Given the description of an element on the screen output the (x, y) to click on. 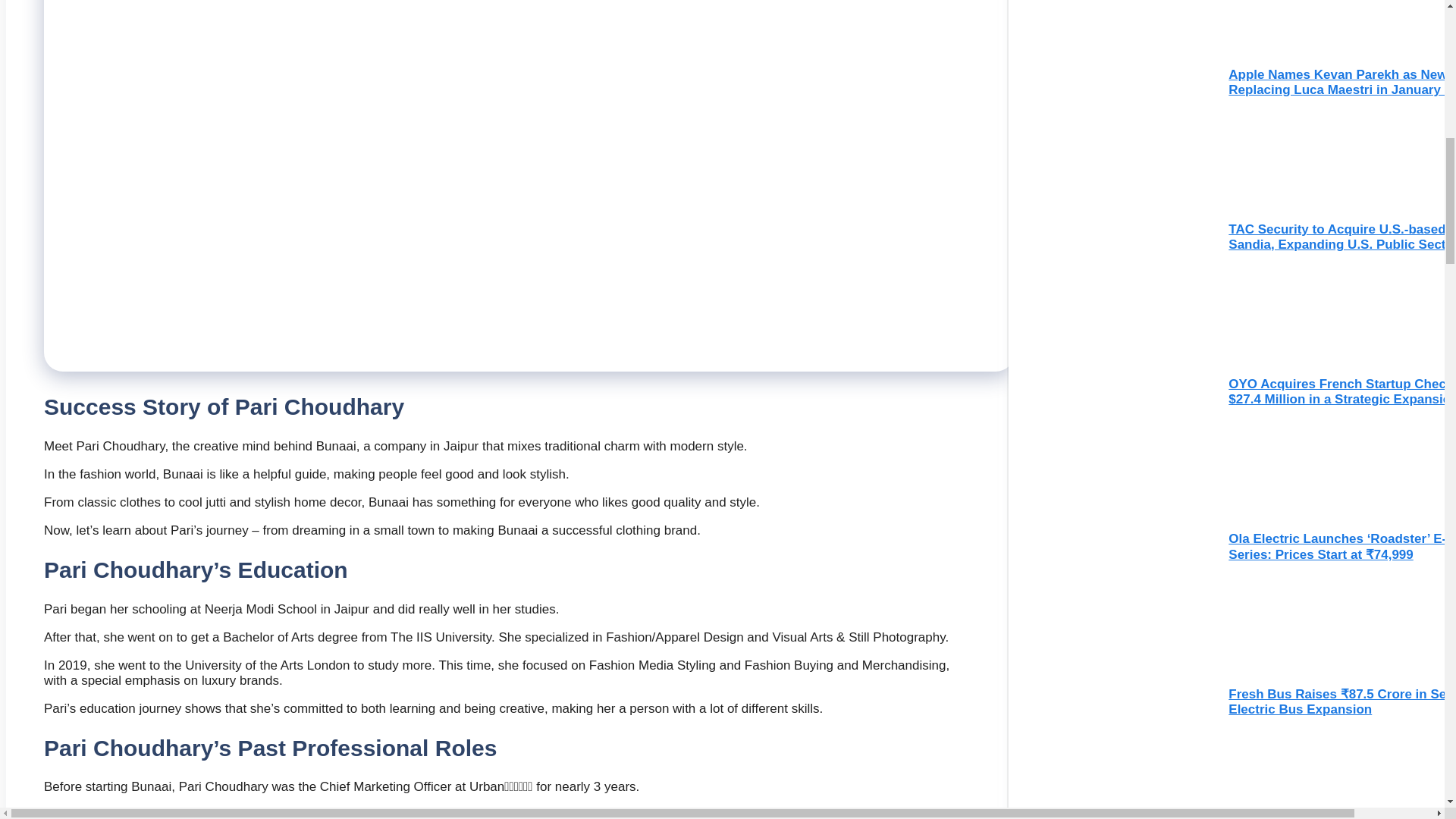
Scroll back to top (1406, 708)
